Given the description of an element on the screen output the (x, y) to click on. 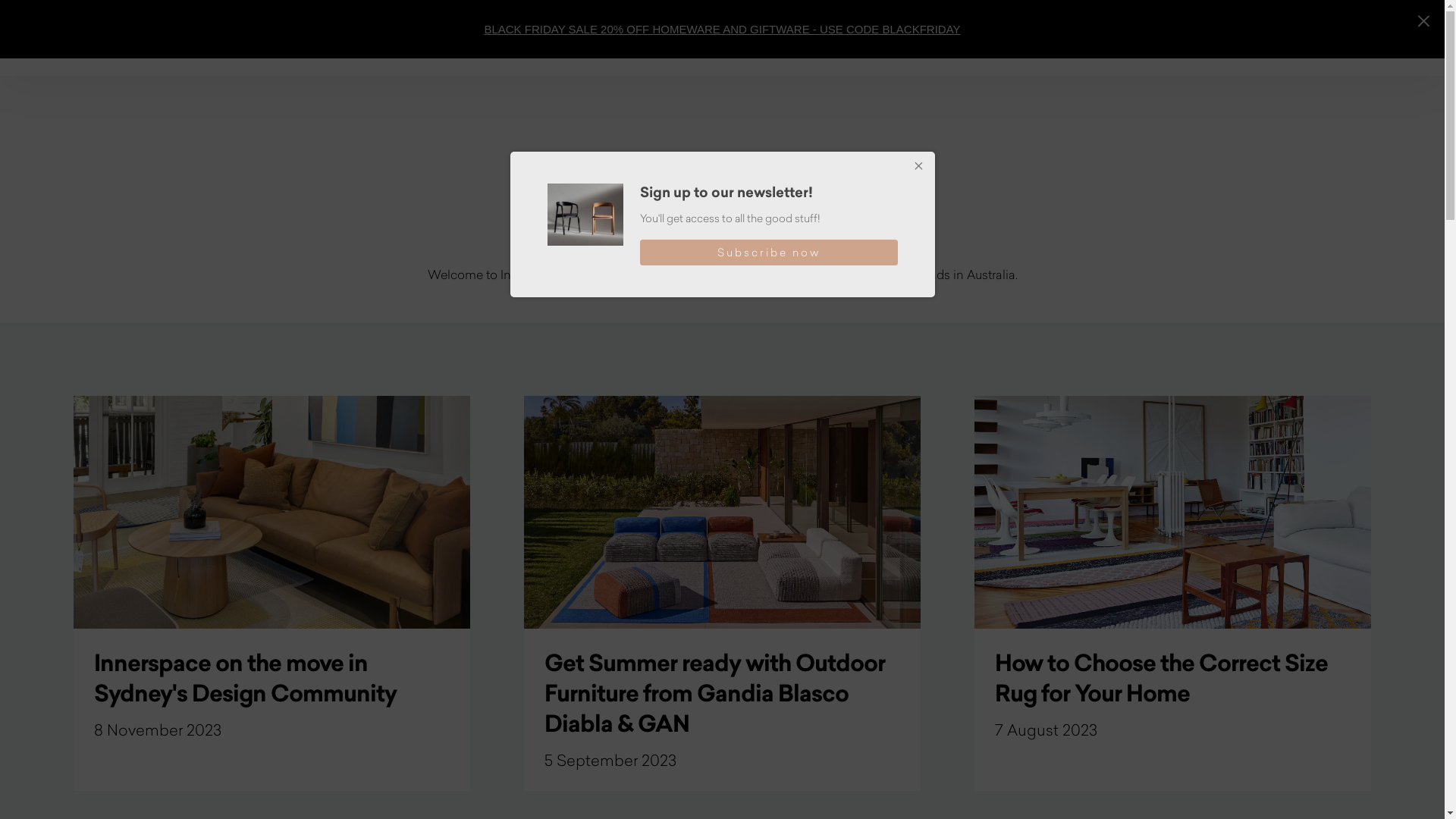
About Element type: text (581, 37)
Services Element type: text (668, 37)
Subscribe now Element type: text (768, 252)
Shop by Brand Element type: text (872, 37)
Projects Element type: text (759, 37)
Ready to Ship Element type: text (477, 37)
Contact Element type: text (1134, 37)
Shop by Designer Element type: text (1012, 37)
